Given the description of an element on the screen output the (x, y) to click on. 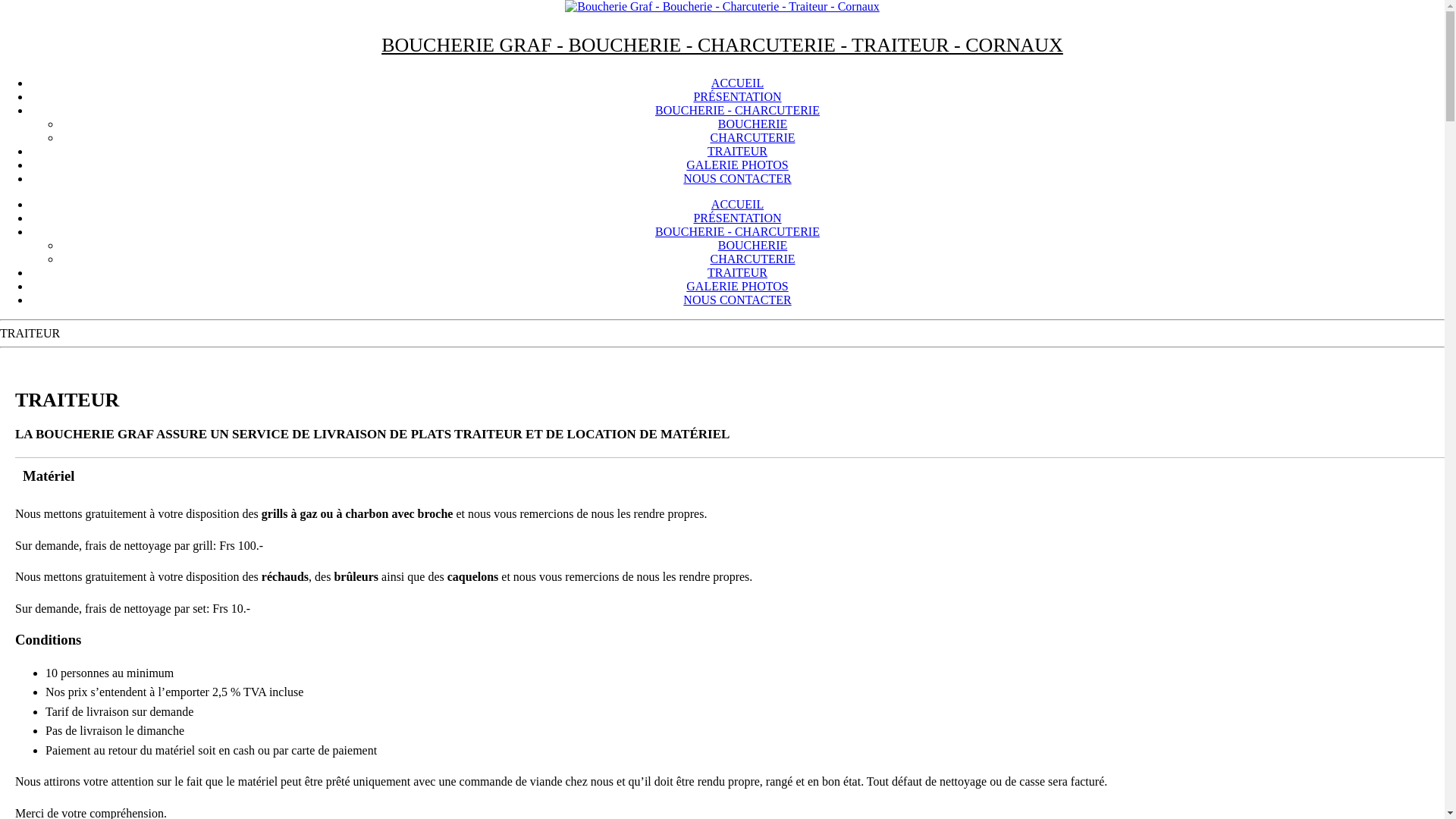
CHARCUTERIE Element type: text (751, 137)
CHARCUTERIE Element type: text (751, 258)
ACCUEIL Element type: text (737, 82)
ACCUEIL Element type: text (737, 203)
GALERIE PHOTOS Element type: text (736, 285)
BOUCHERIE Element type: text (752, 244)
GALERIE PHOTOS Element type: text (736, 164)
NOUS CONTACTER Element type: text (736, 178)
BOUCHERIE Element type: text (752, 123)
TRAITEUR Element type: text (737, 272)
NOUS CONTACTER Element type: text (736, 299)
TRAITEUR Element type: text (737, 150)
